Given the description of an element on the screen output the (x, y) to click on. 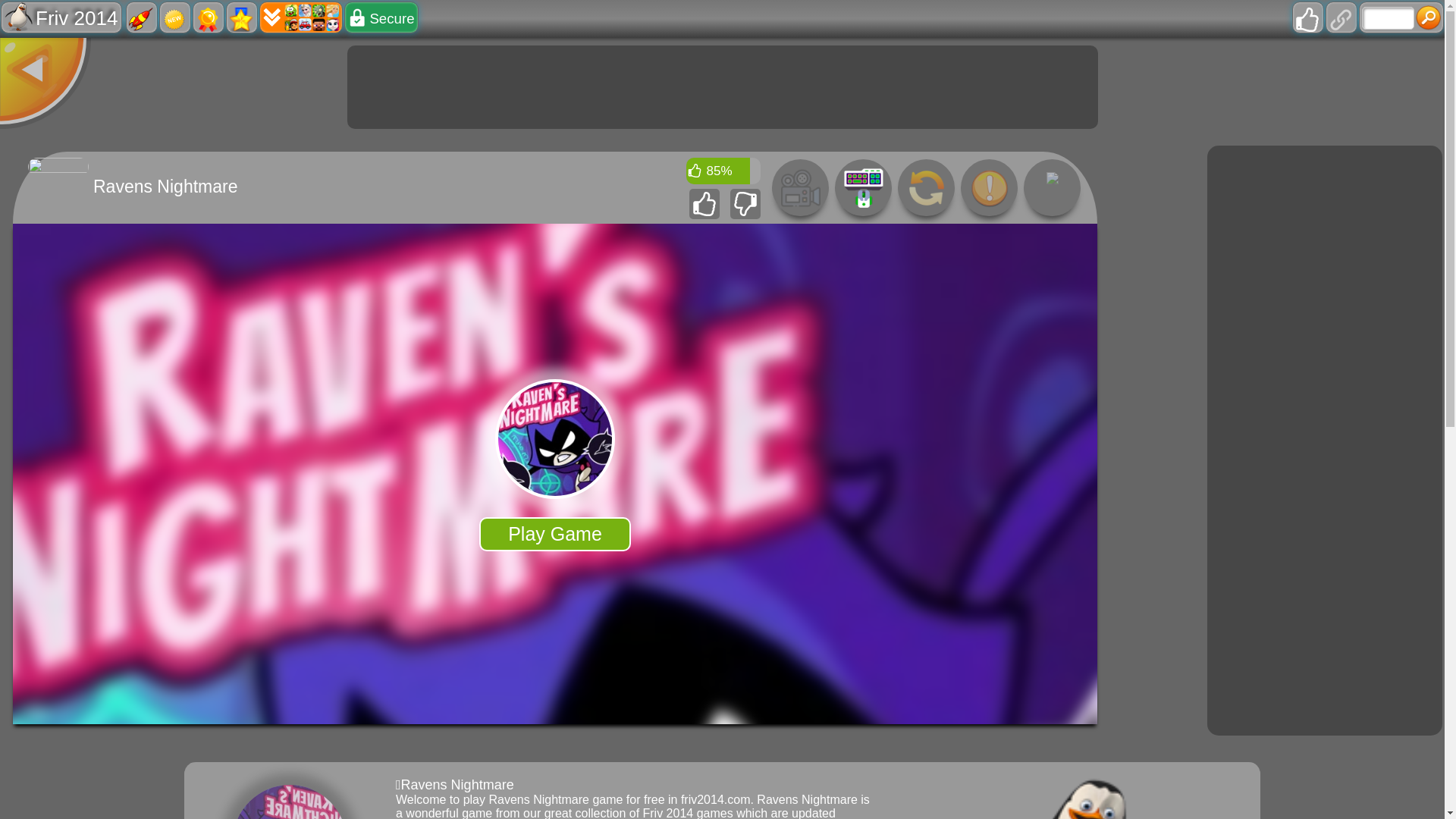
Play Game (554, 533)
Secure (380, 17)
Friv 2014 (61, 17)
